Given the description of an element on the screen output the (x, y) to click on. 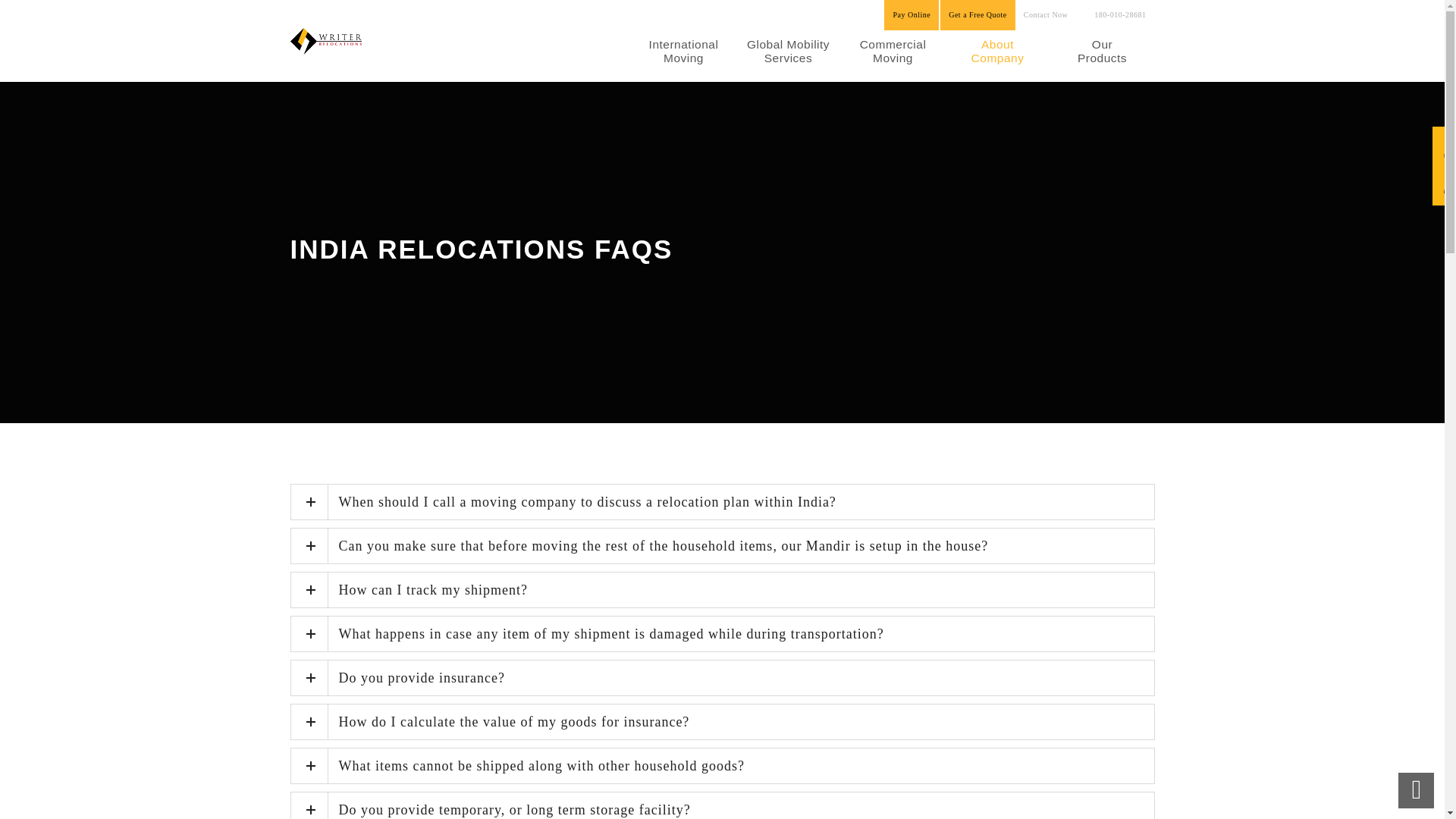
Contact Now (1045, 15)
Pay Online (911, 15)
180-010-28681 (1114, 15)
Contact Now (1045, 15)
Get a Free Quote (977, 15)
Pay Online (911, 15)
Get a Free Quote (977, 15)
Global Mobility Services (787, 56)
International Moving (682, 56)
